Given the description of an element on the screen output the (x, y) to click on. 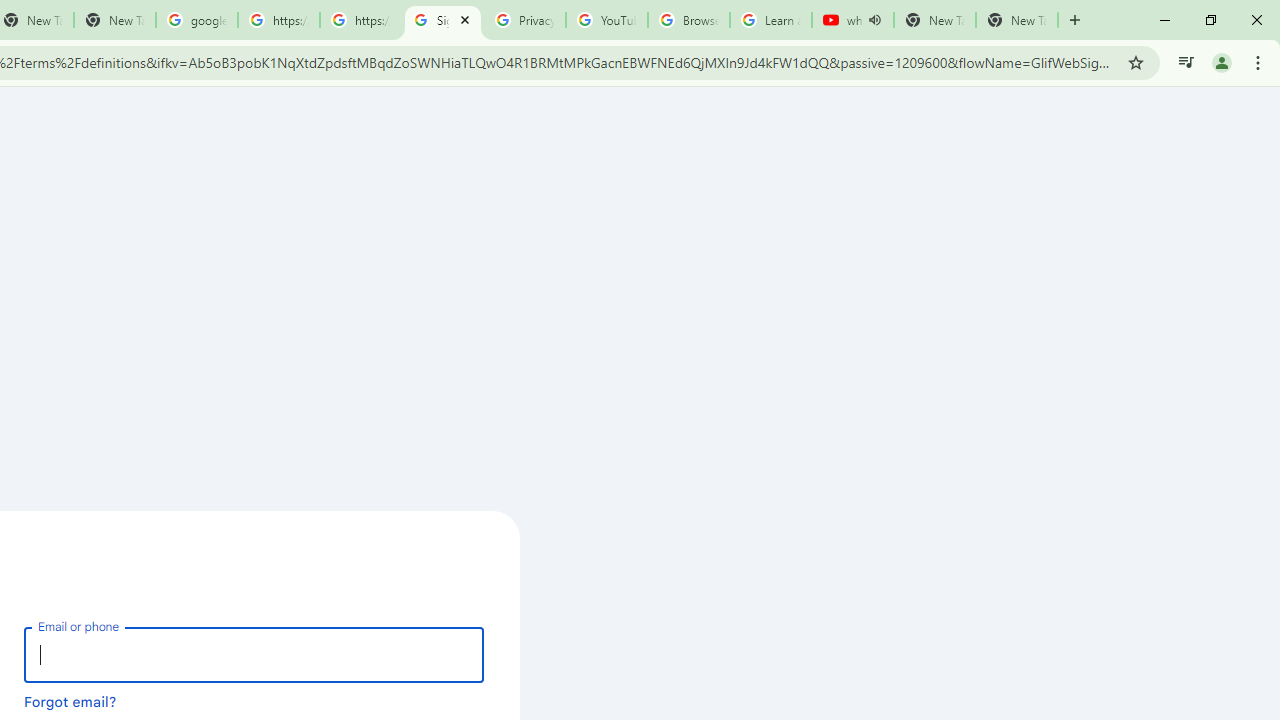
Mute tab (874, 20)
YouTube (606, 20)
